Given the description of an element on the screen output the (x, y) to click on. 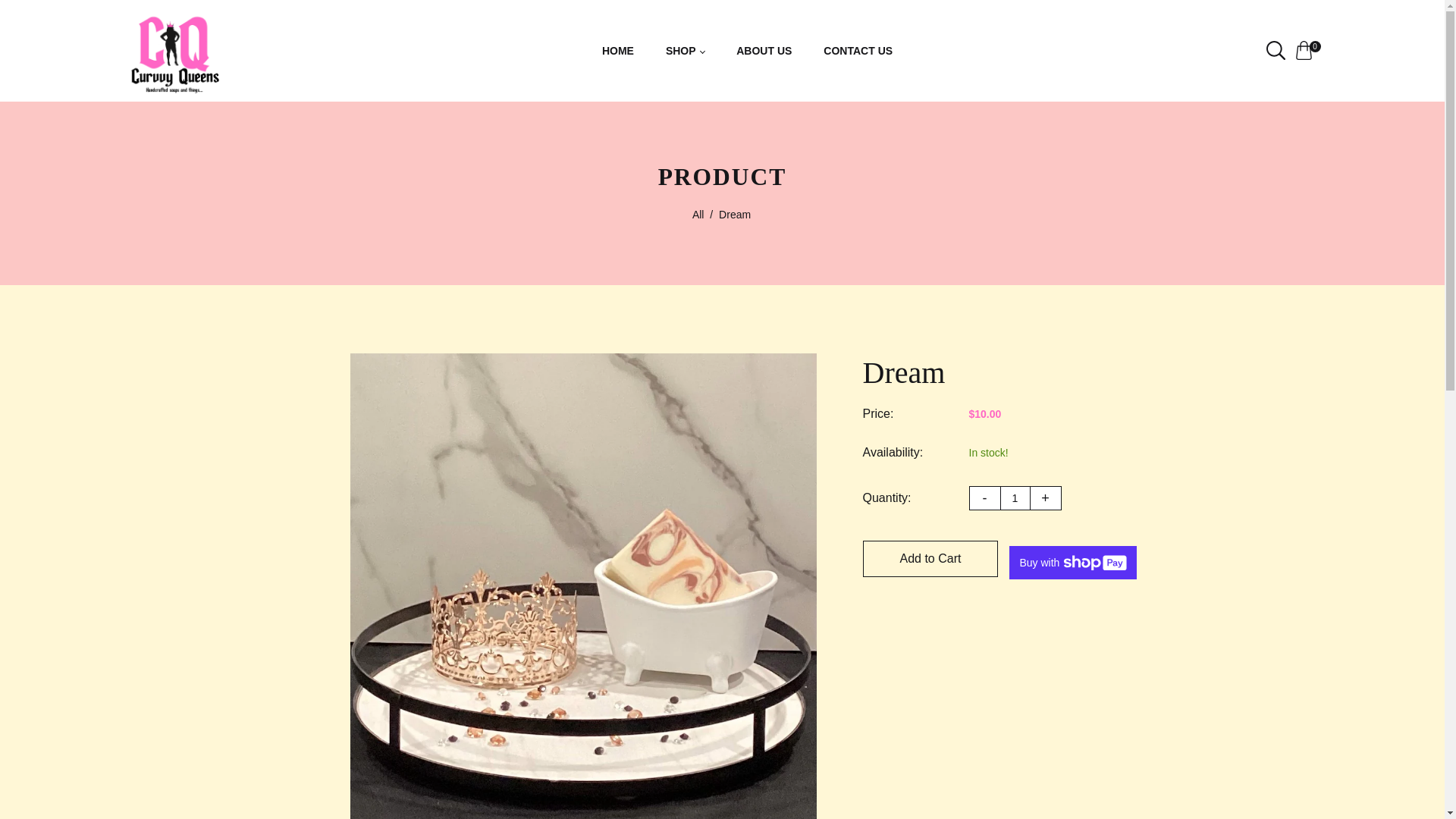
0 (1307, 50)
1 (1013, 497)
HOME (618, 50)
SHOP (684, 50)
Add to Cart (930, 558)
- (983, 497)
CONTACT US (858, 50)
Curvvy Queens (175, 50)
ABOUT US (764, 50)
